Given the description of an element on the screen output the (x, y) to click on. 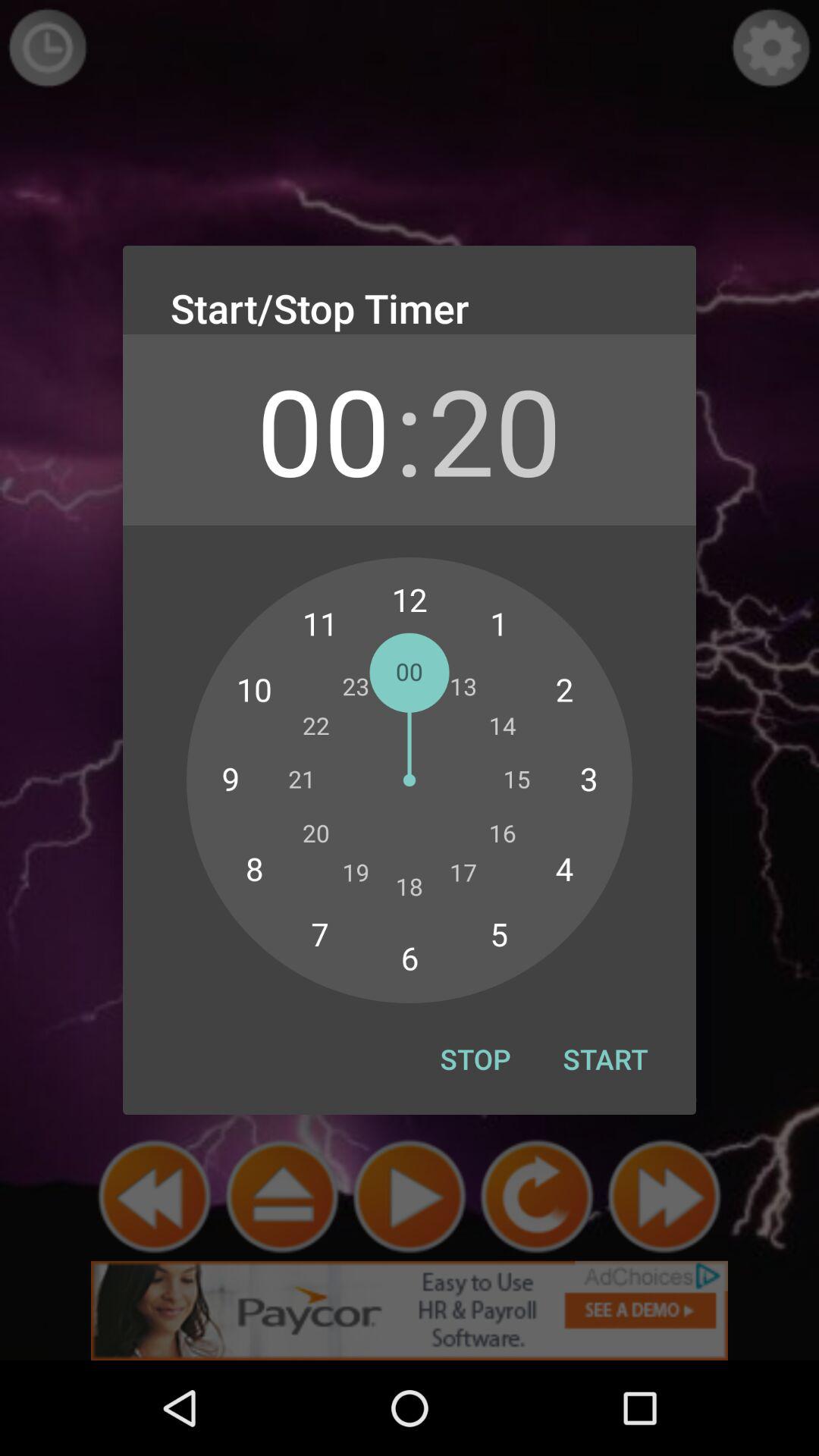
select icon next to the : icon (494, 429)
